Given the description of an element on the screen output the (x, y) to click on. 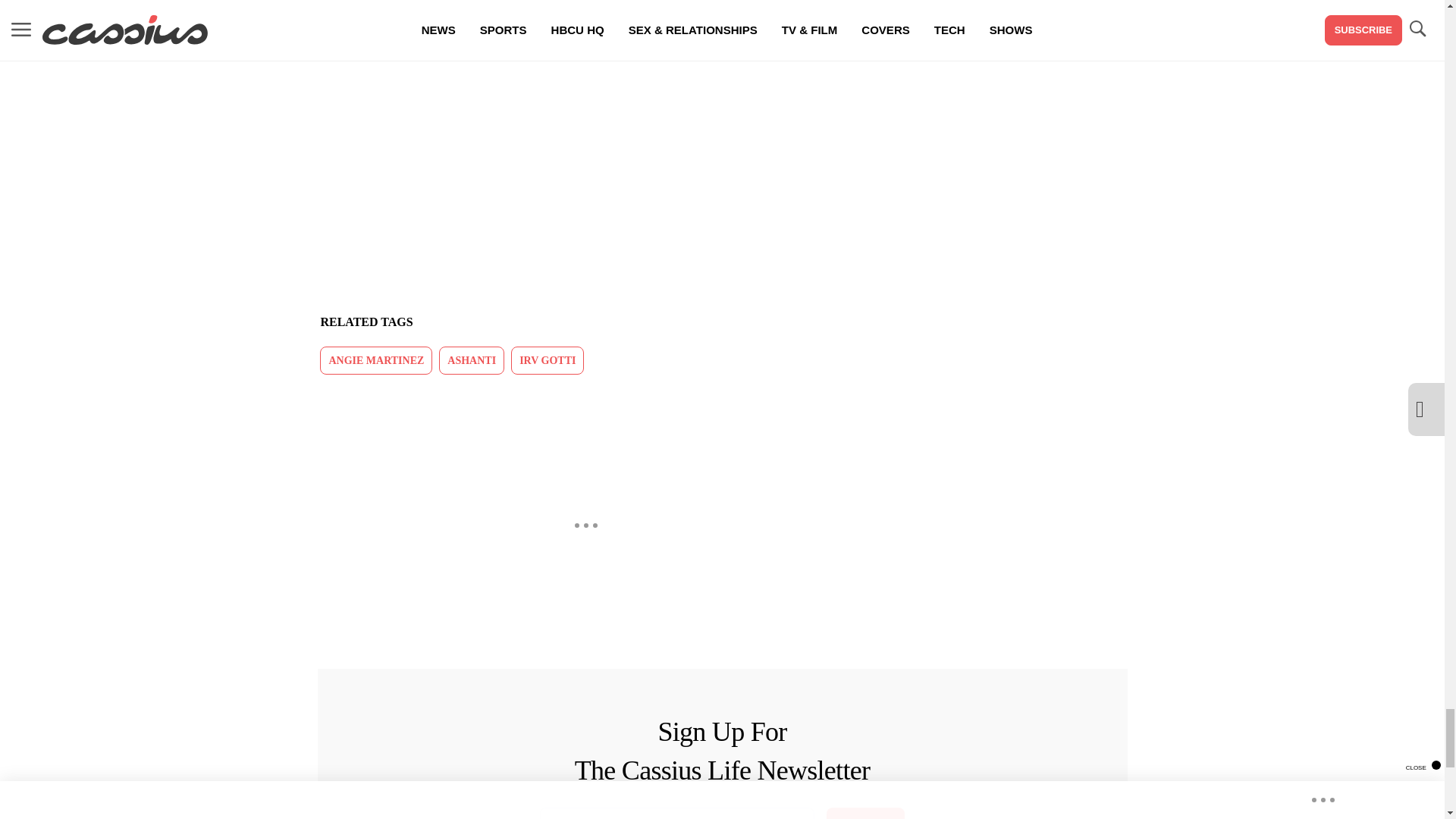
ASHANTI (471, 360)
ANGIE MARTINEZ (376, 360)
IRV GOTTI (547, 360)
